Given the description of an element on the screen output the (x, y) to click on. 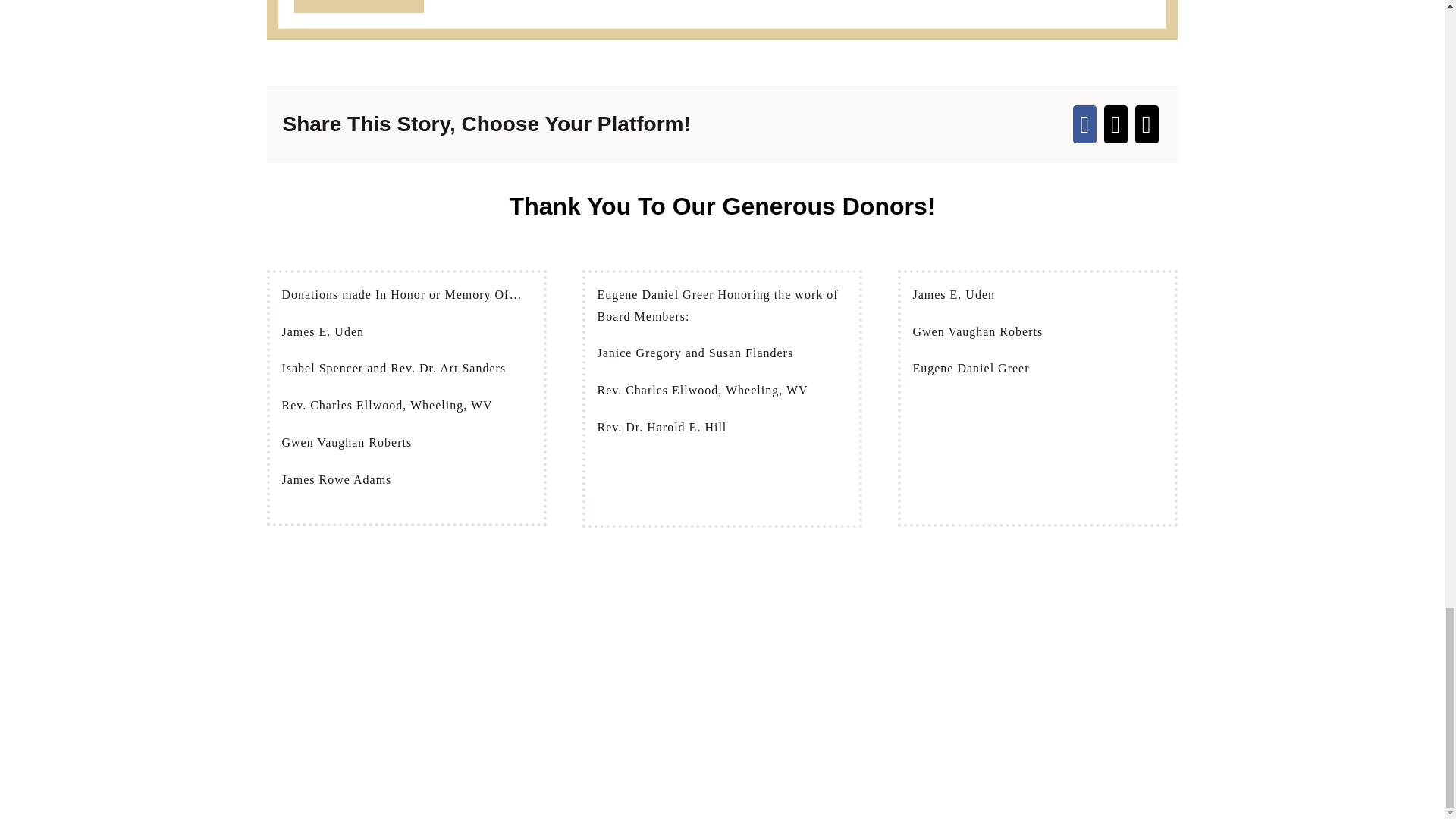
Soulful Travel (358, 6)
